Given the description of an element on the screen output the (x, y) to click on. 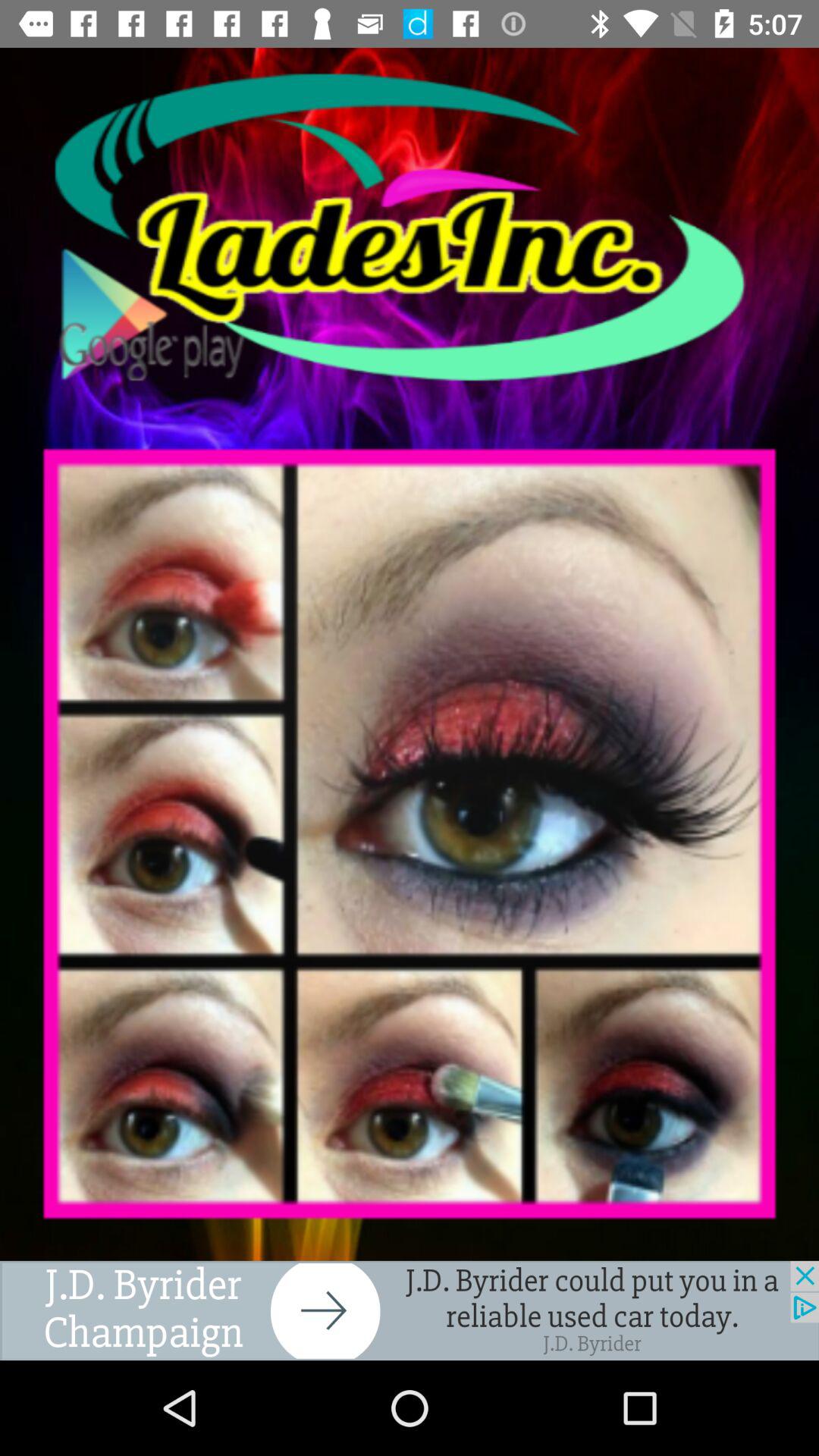
go to home (409, 226)
